Given the description of an element on the screen output the (x, y) to click on. 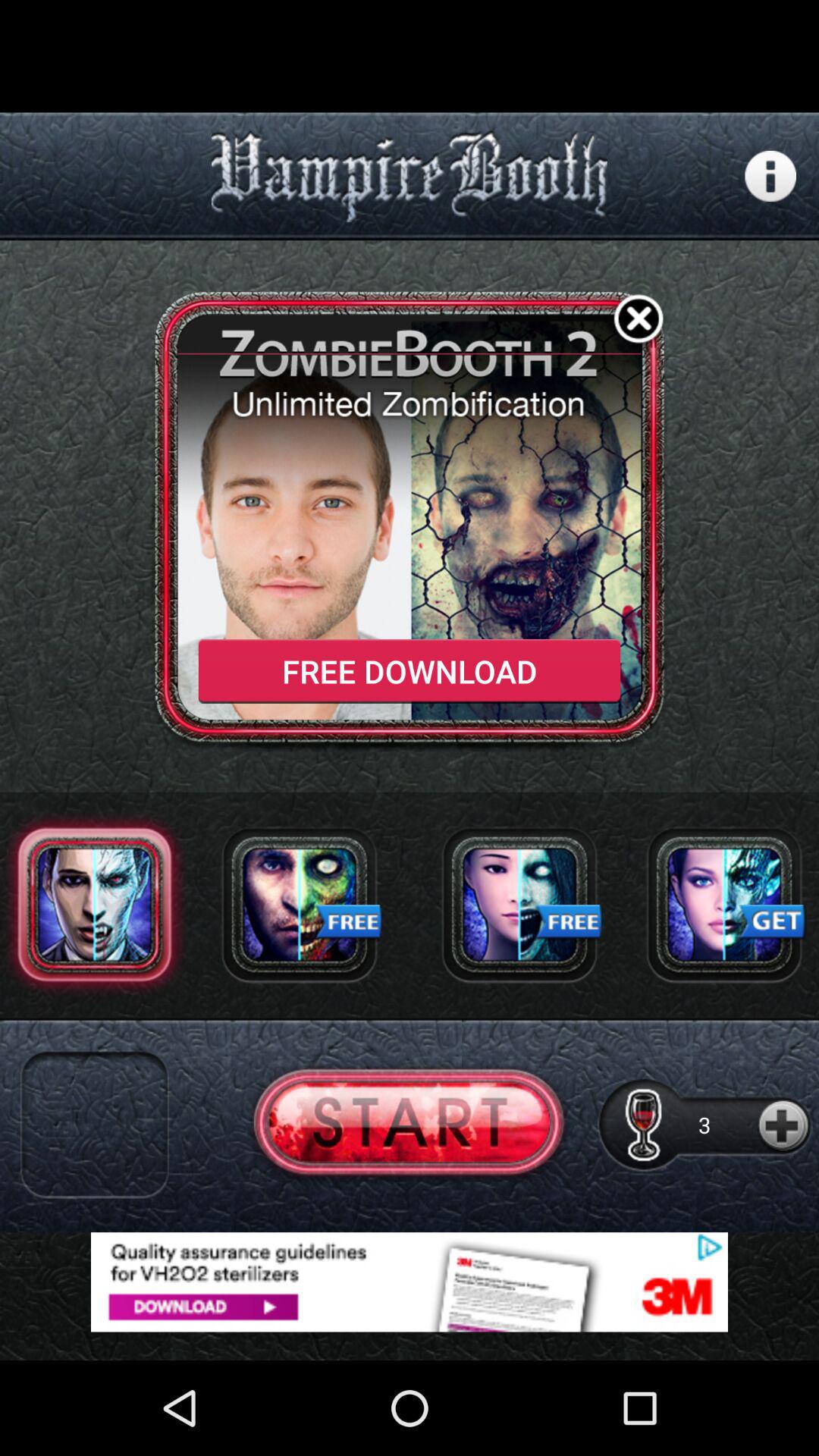
setting page (770, 175)
